Given the description of an element on the screen output the (x, y) to click on. 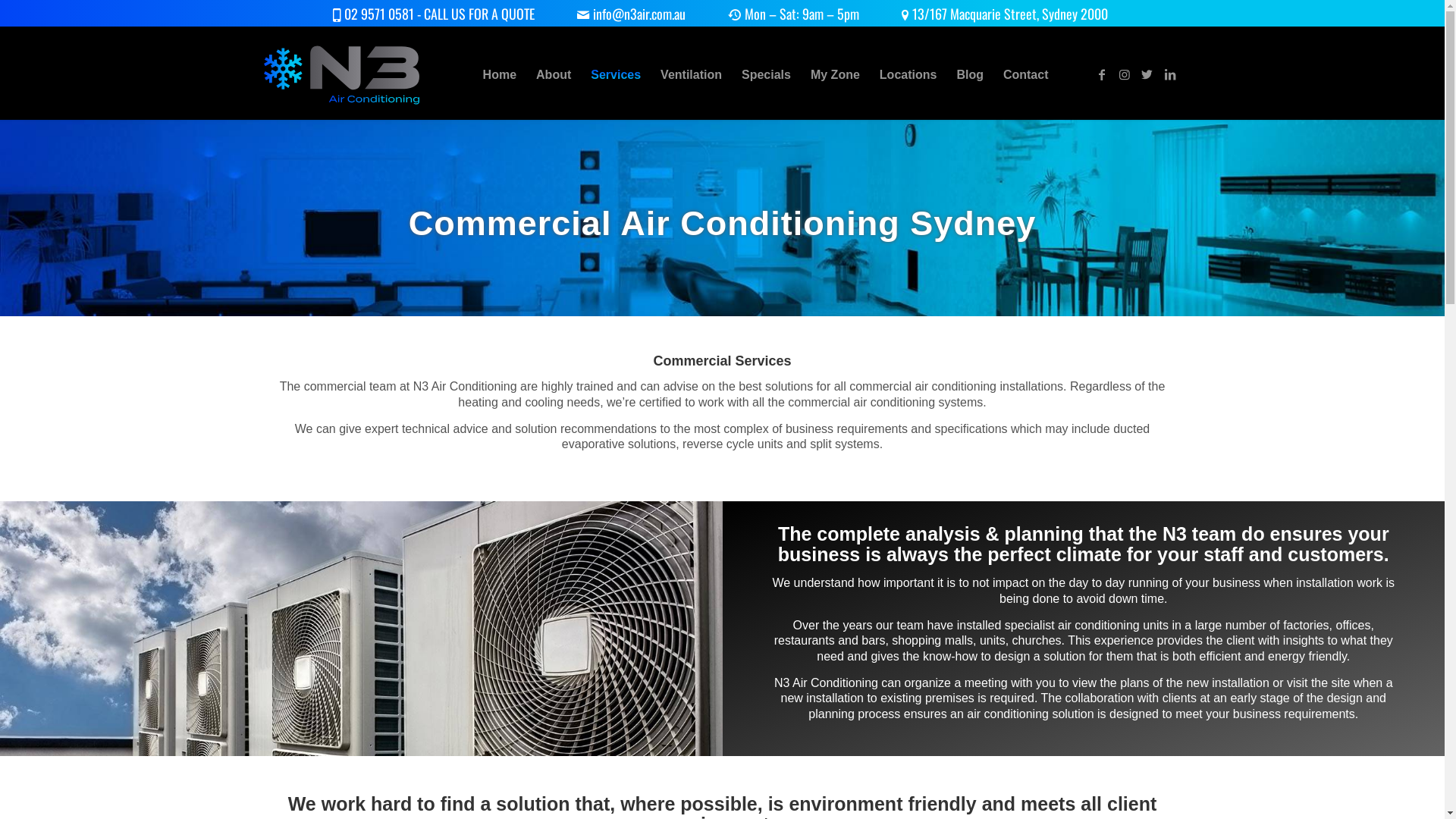
Ventilation Element type: text (690, 74)
LinkedIn Element type: hover (1169, 73)
Specials Element type: text (765, 74)
13/167 Macquarie Street, Sydney 2000 Element type: text (1006, 14)
Instagram Element type: hover (1124, 73)
Contact Element type: text (1025, 74)
info@n3air.com.au Element type: text (632, 14)
Services Element type: text (615, 74)
Home Element type: text (499, 74)
Twitter Element type: hover (1146, 73)
02 9571 0581 - CALL US FOR A QUOTE Element type: text (435, 14)
Locations Element type: text (908, 74)
Facebook Element type: hover (1101, 73)
My Zone Element type: text (834, 74)
About Element type: text (553, 74)
Blog Element type: text (969, 74)
